Given the description of an element on the screen output the (x, y) to click on. 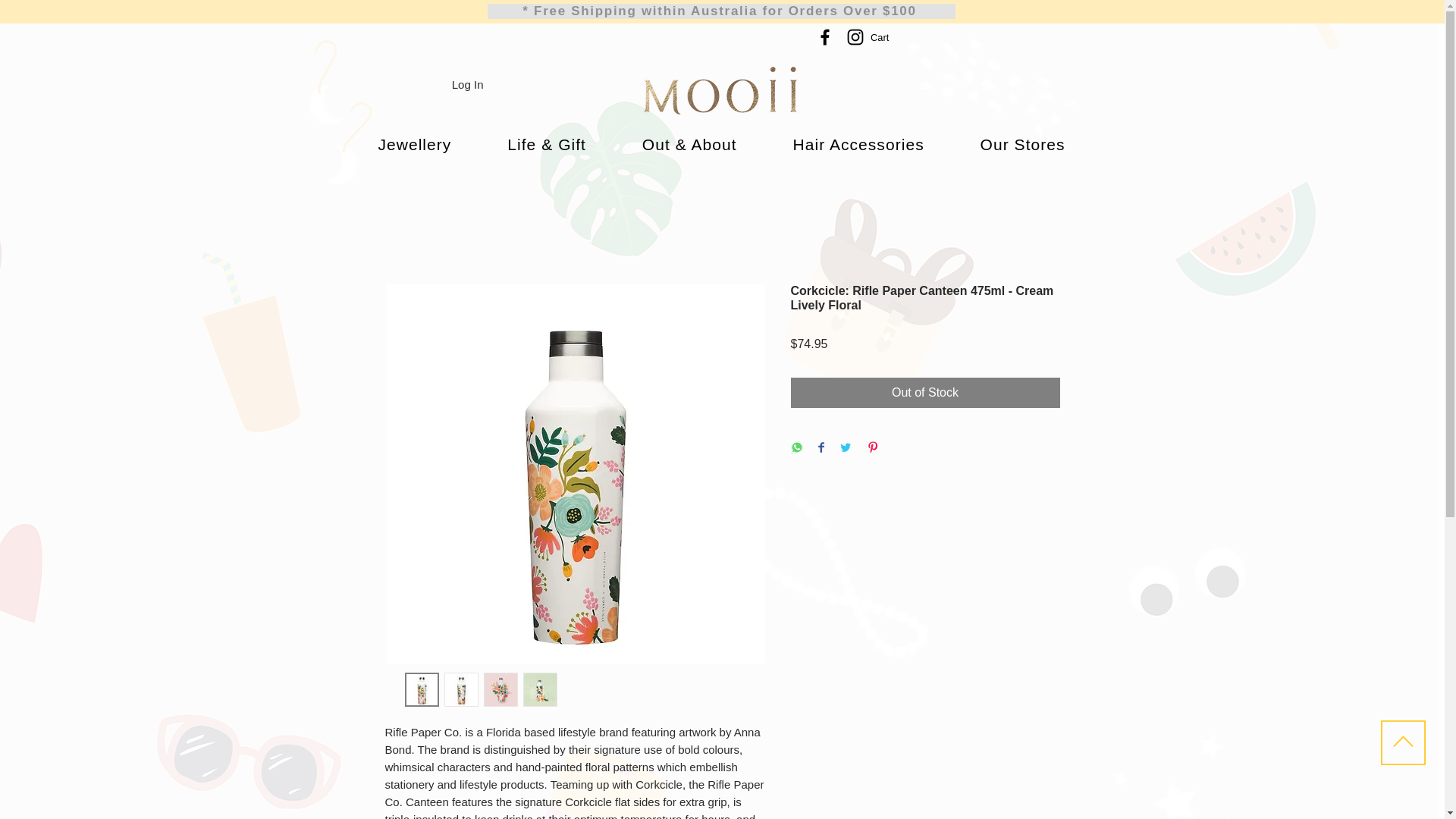
Log In (468, 84)
Cart (888, 37)
Cart (888, 37)
